Given the description of an element on the screen output the (x, y) to click on. 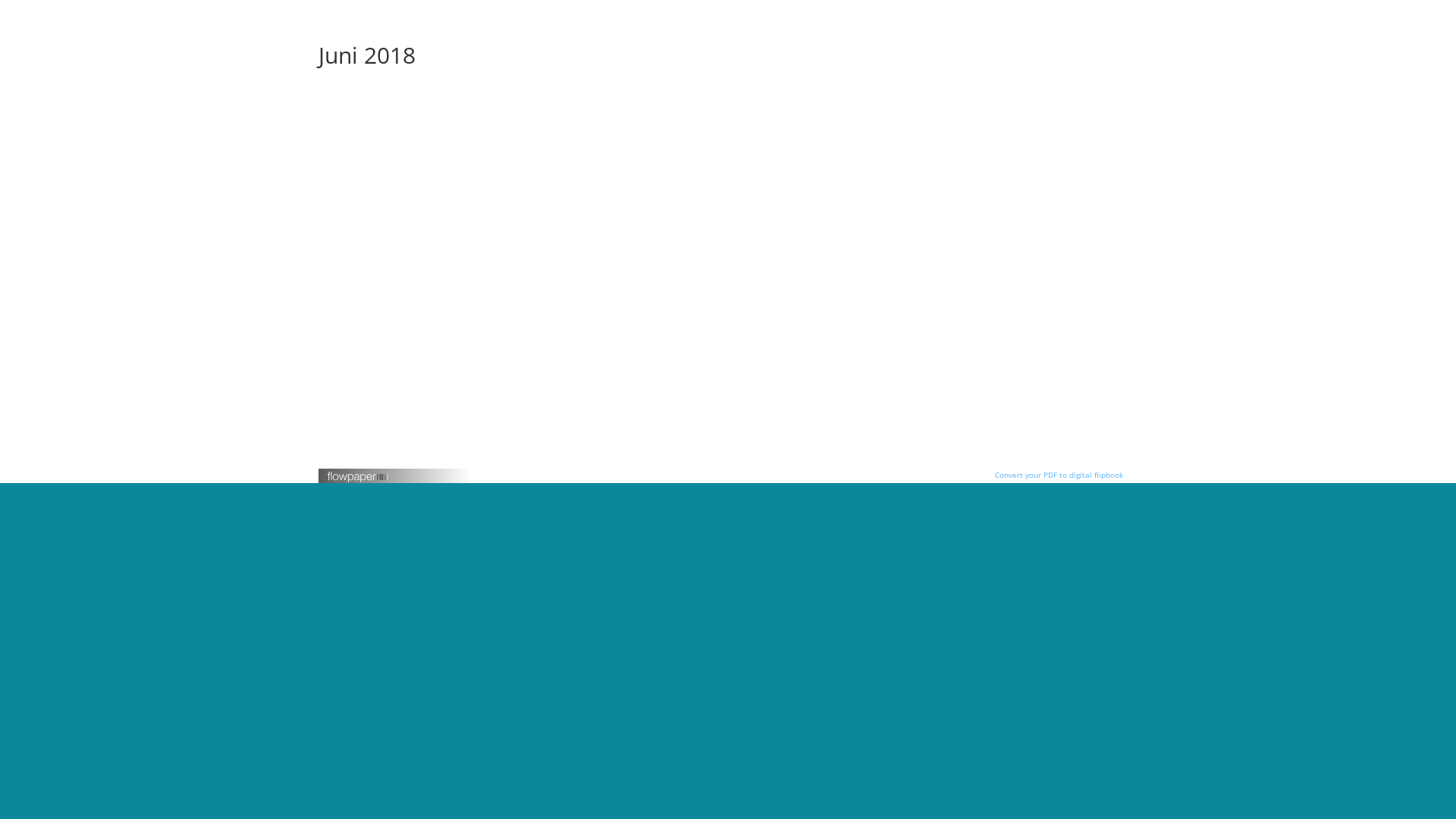
FlowPaper logotype Element type: hover (357, 478)
